Given the description of an element on the screen output the (x, y) to click on. 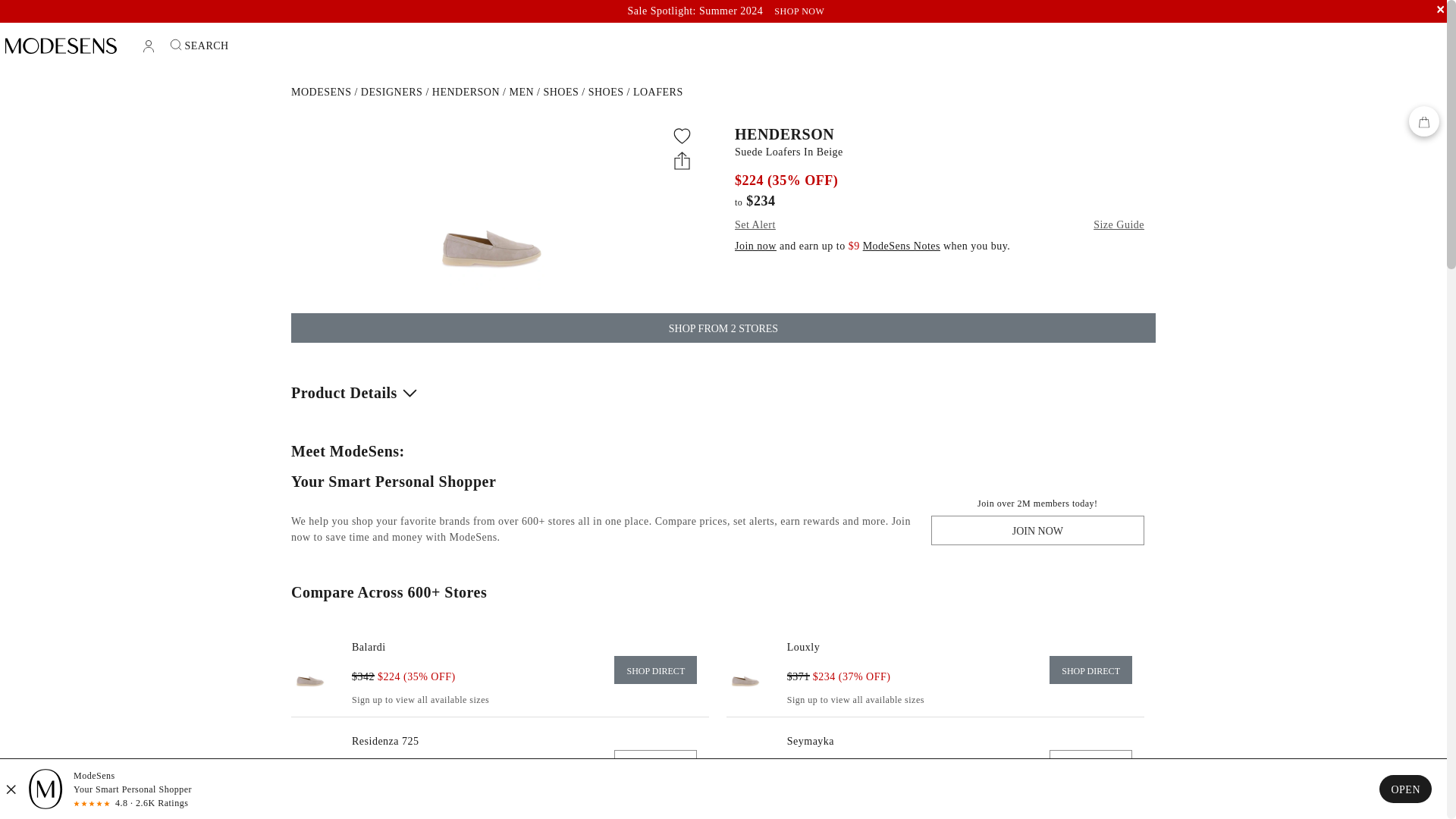
Henderson (465, 91)
Add to shopping lists (681, 135)
Learn more about ModeSens membership (901, 245)
Designers (392, 91)
Buy from store's website (1090, 669)
Suede Loafers In Beige (939, 151)
Buy from store's website (803, 646)
OPEN (1404, 788)
HENDERSON (939, 133)
Henderson Loafers for Men (657, 91)
